Given the description of an element on the screen output the (x, y) to click on. 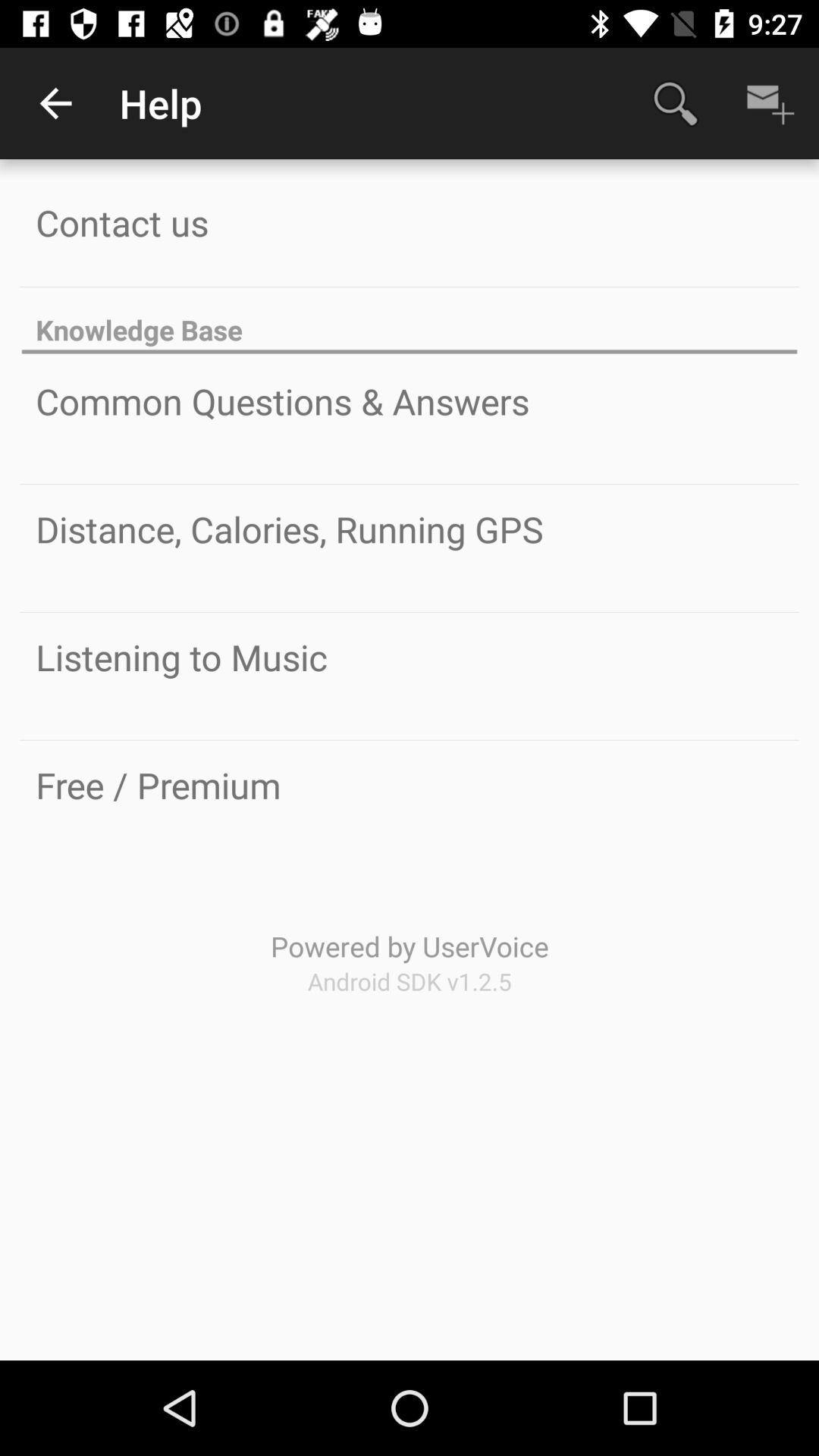
open listening to music item (181, 657)
